Given the description of an element on the screen output the (x, y) to click on. 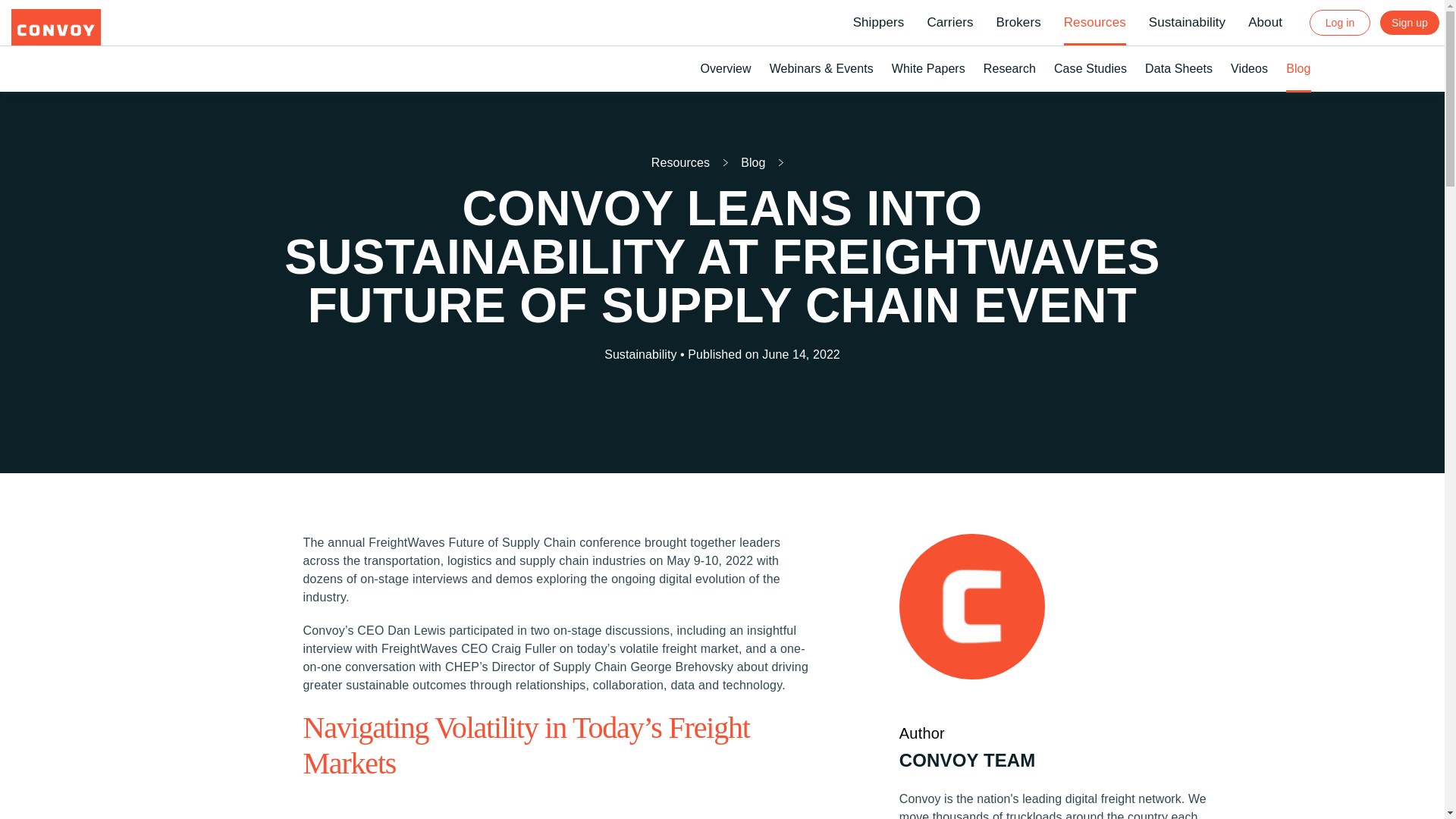
Resources (680, 162)
Resources (1094, 22)
Case Studies (1090, 68)
White Papers (928, 68)
Blog (753, 162)
Log in (1339, 22)
Sustainability (1186, 22)
Research (1009, 68)
Sign up (1408, 22)
